Given the description of an element on the screen output the (x, y) to click on. 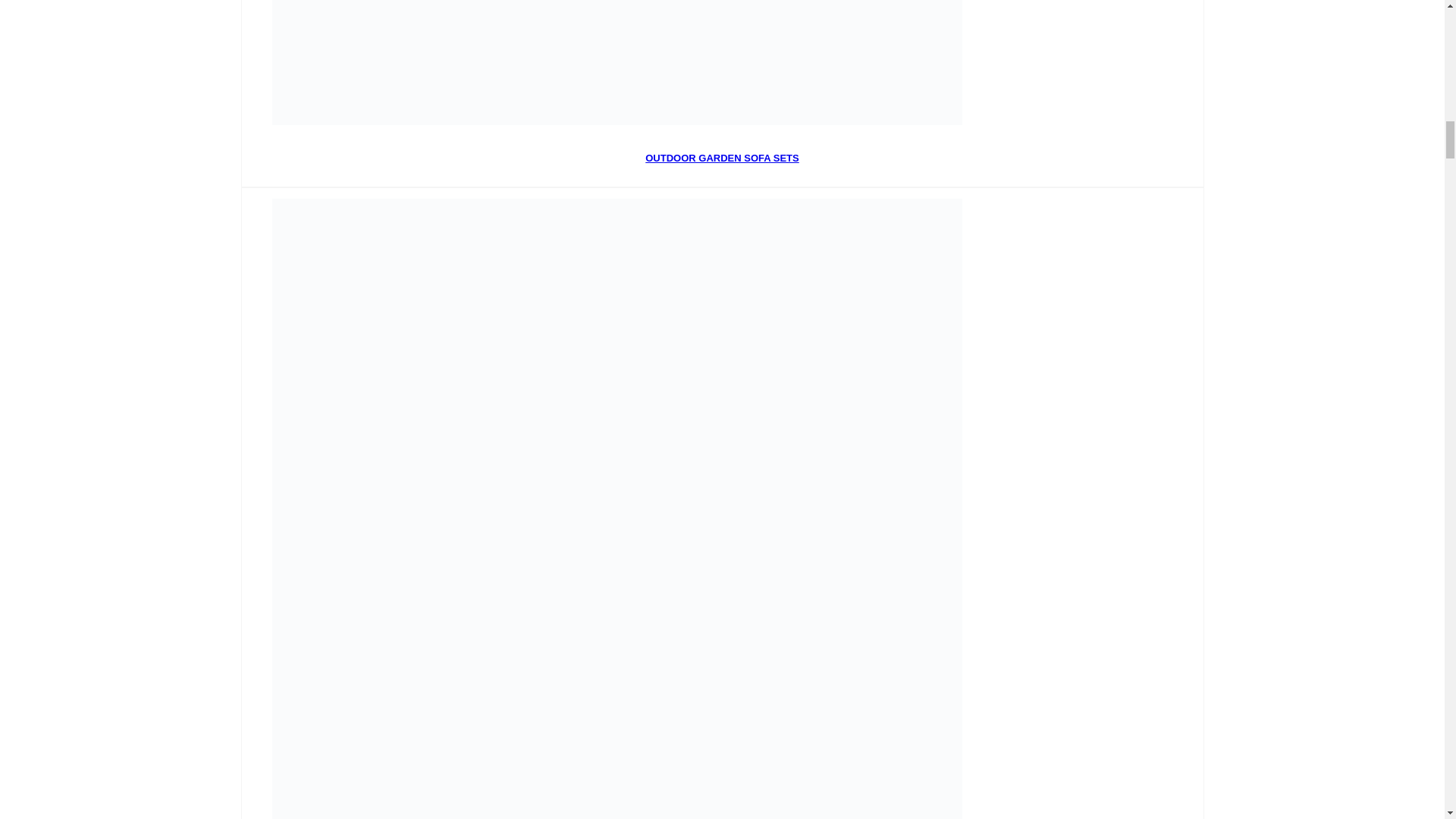
OUTDOOR GARDEN SOFA SETS (721, 157)
